Given the description of an element on the screen output the (x, y) to click on. 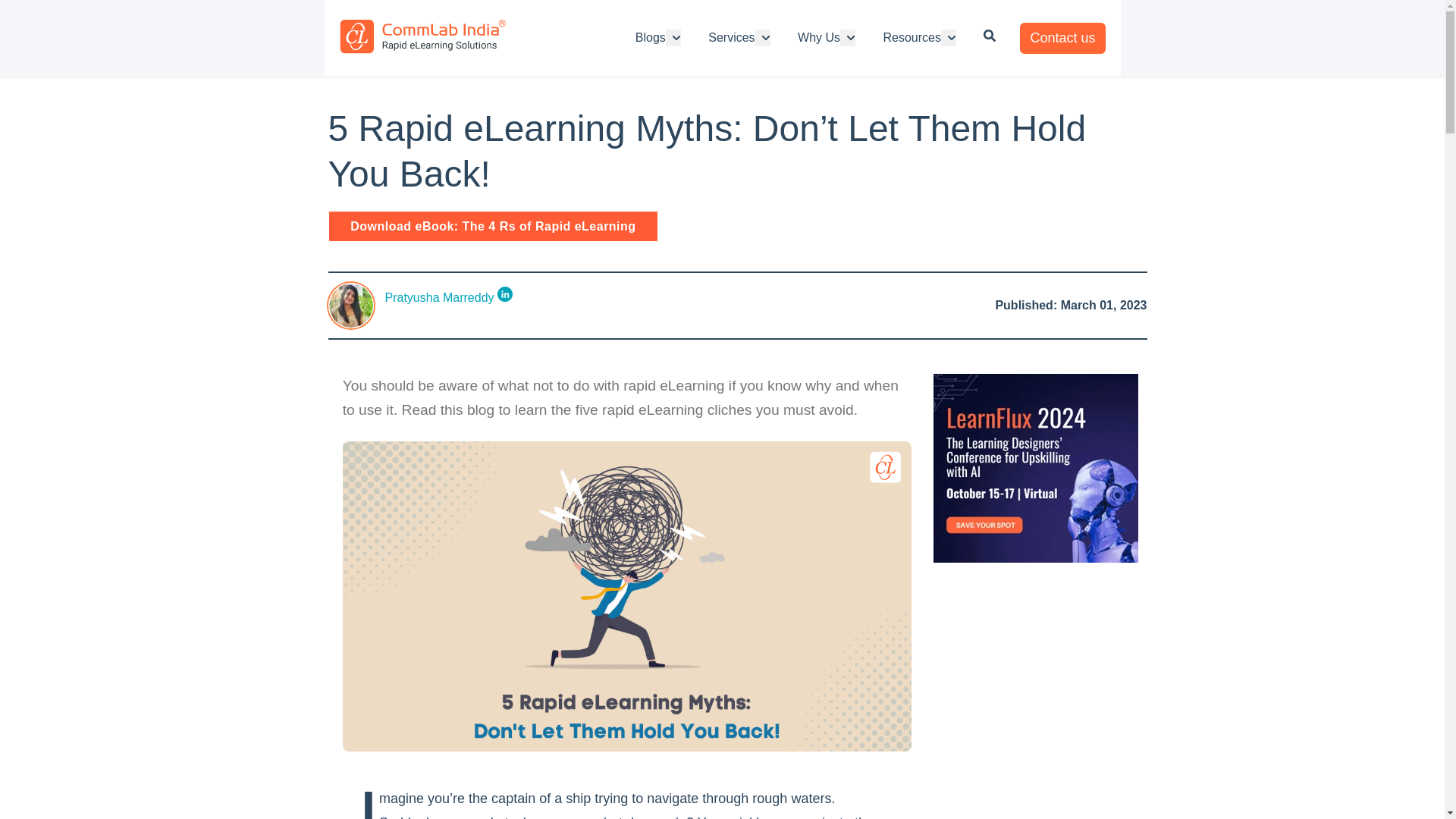
Why Us (818, 37)
Resources (911, 37)
Show submenu for Why Us (848, 37)
Download eBook: The 4 Rs of Rapid eLearning (492, 225)
Services (730, 37)
Blogs (649, 37)
Show submenu for Services (762, 37)
Show submenu for Blogs (673, 37)
Show submenu for Resources (948, 37)
LearnFlux 2024 (1035, 558)
